Given the description of an element on the screen output the (x, y) to click on. 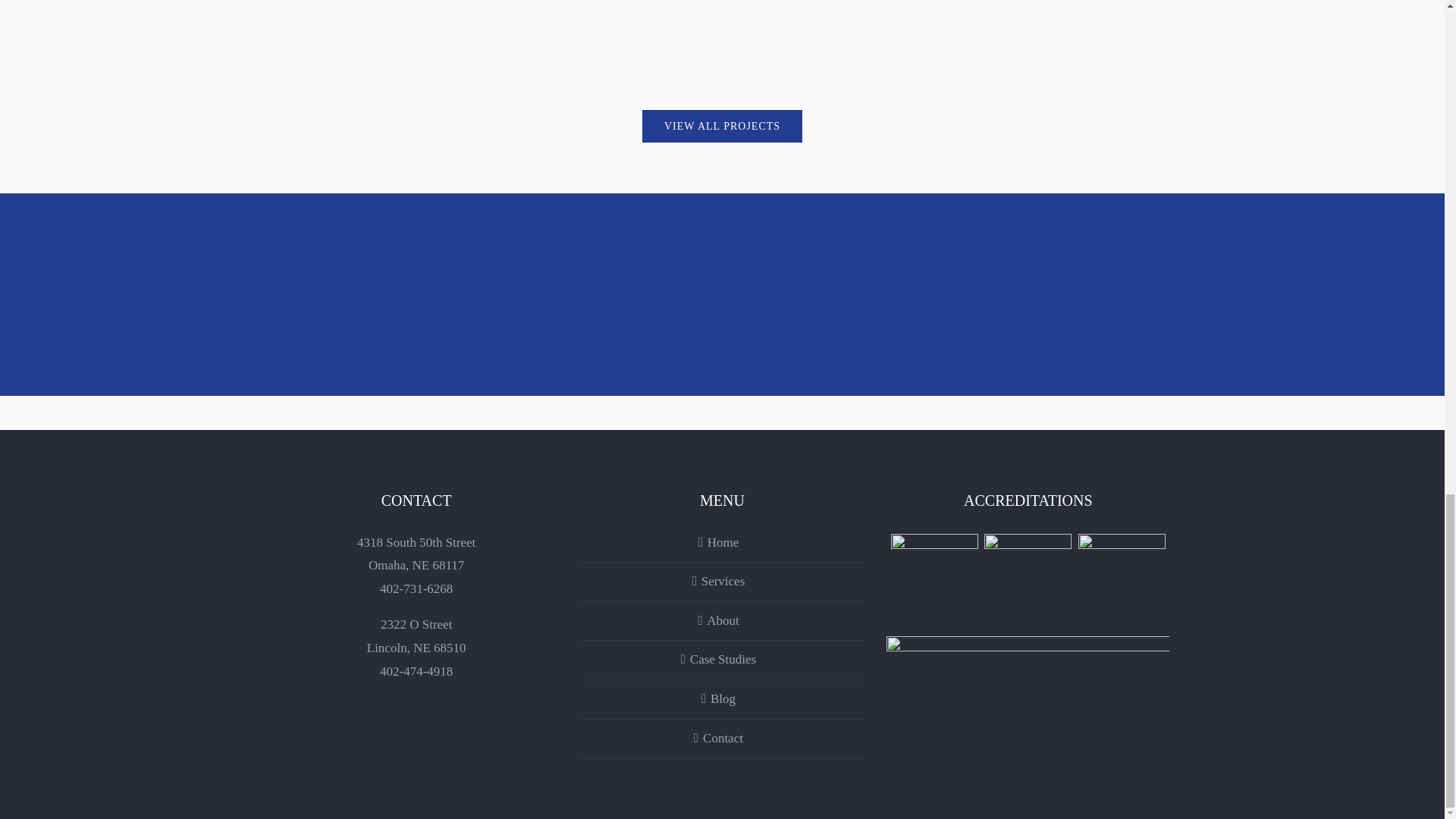
About (722, 621)
Home (722, 543)
Contact (722, 739)
Case Studies (722, 659)
Blog (722, 699)
Services (722, 581)
VIEW ALL PROJECTS (721, 126)
